Given the description of an element on the screen output the (x, y) to click on. 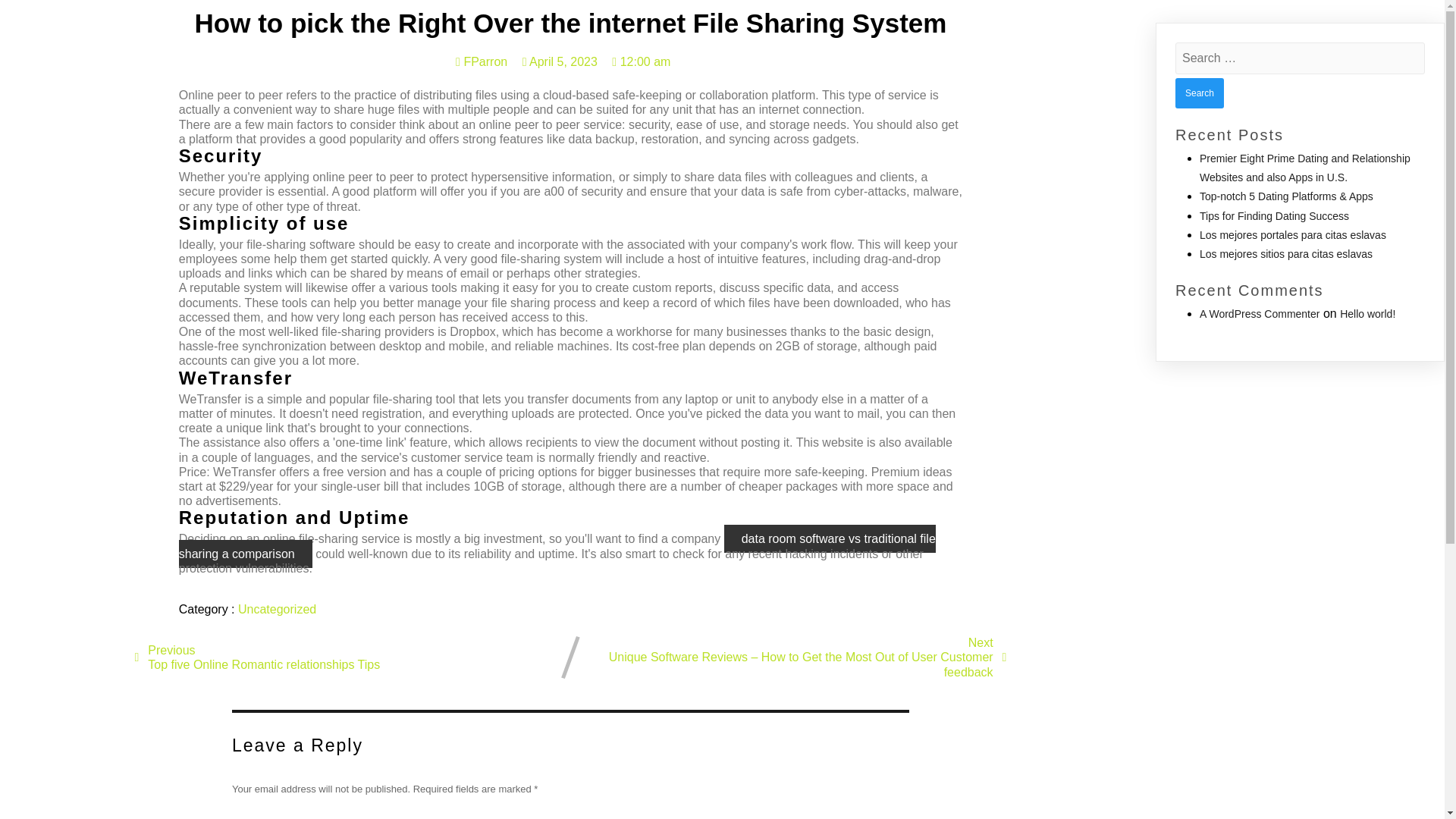
April 5, 2023 (559, 61)
Hello world! (1366, 313)
Search (1199, 92)
data room software vs traditional file sharing a comparison (557, 545)
Los mejores sitios para citas eslavas (1286, 254)
Search (1199, 92)
Los mejores portales para citas eslavas (1292, 234)
Tips for Finding Dating Success (1274, 215)
